Given the description of an element on the screen output the (x, y) to click on. 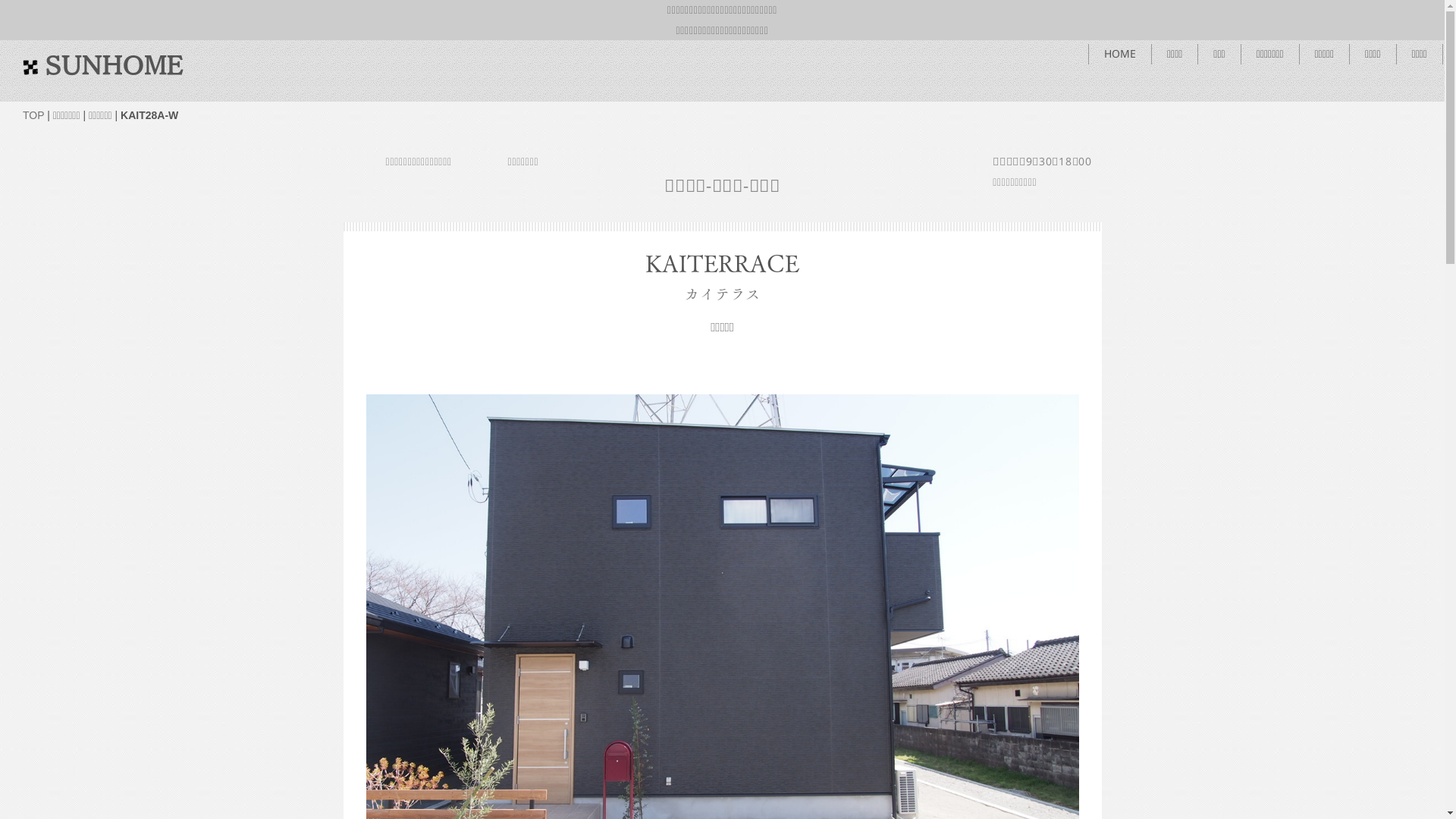
HOME Element type: text (1119, 53)
TOP Element type: text (32, 115)
